Given the description of an element on the screen output the (x, y) to click on. 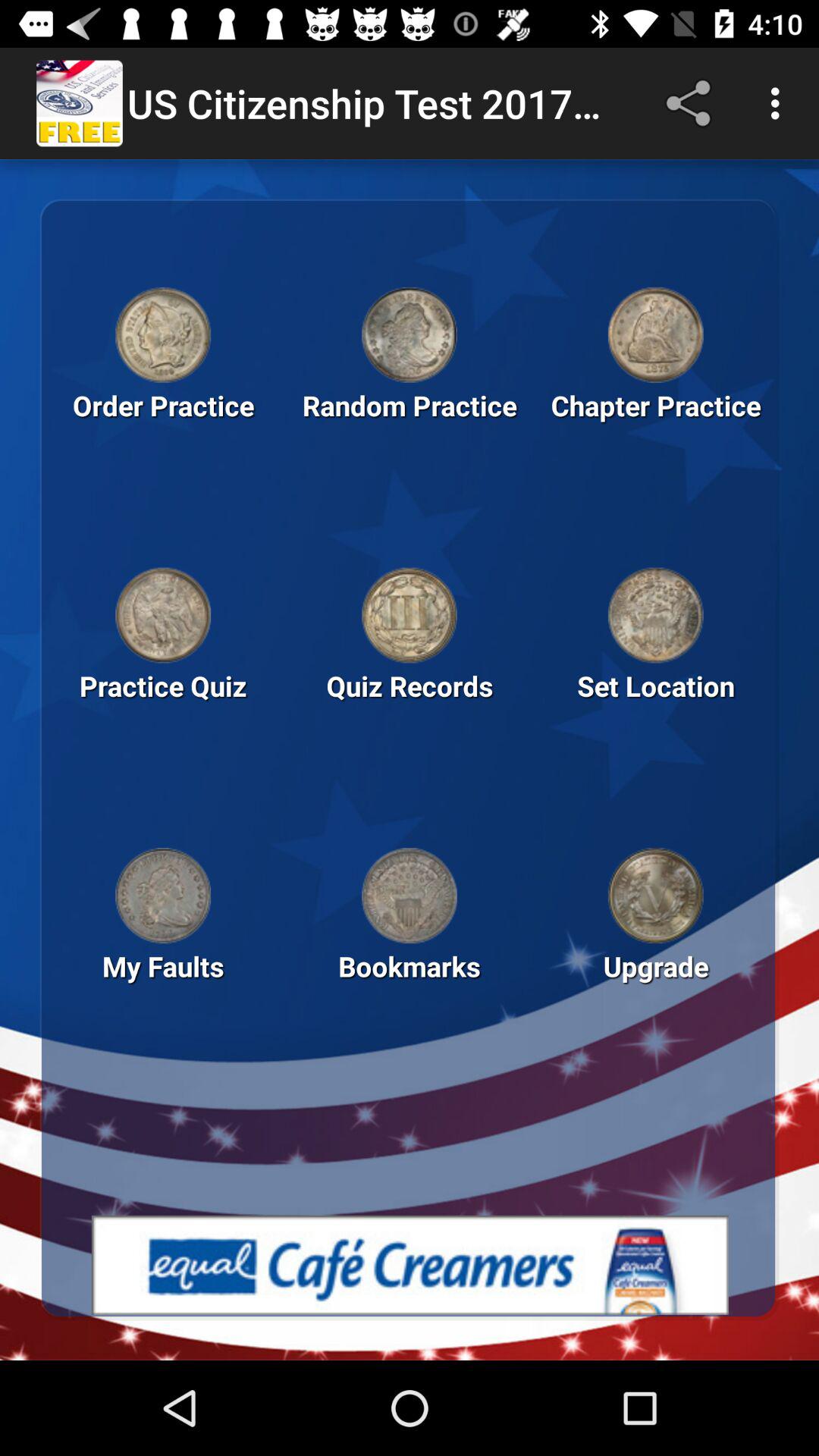
practice quiz for us citizenship test 2017 (163, 615)
